Given the description of an element on the screen output the (x, y) to click on. 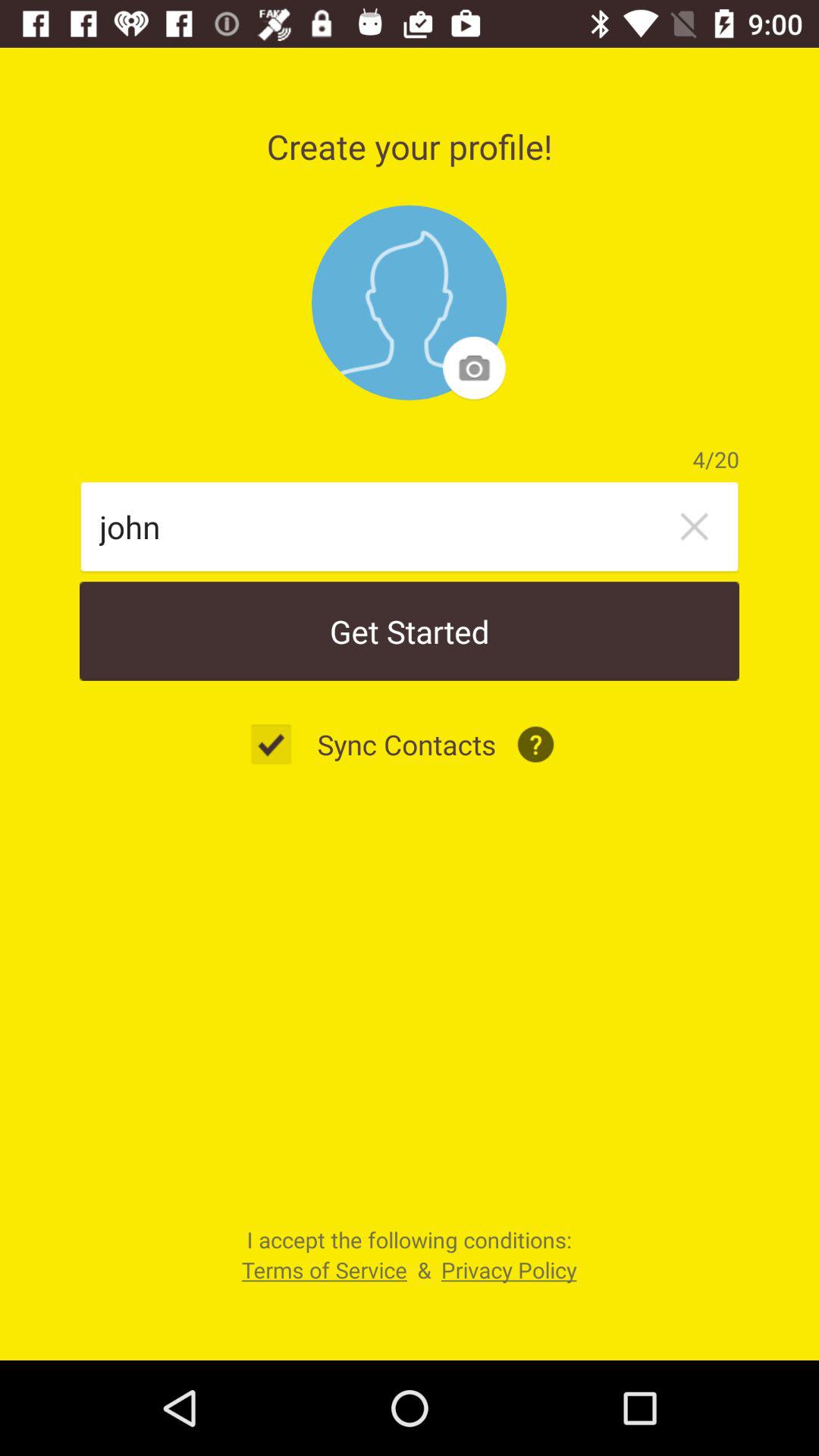
flip to the terms of service (324, 1269)
